Given the description of an element on the screen output the (x, y) to click on. 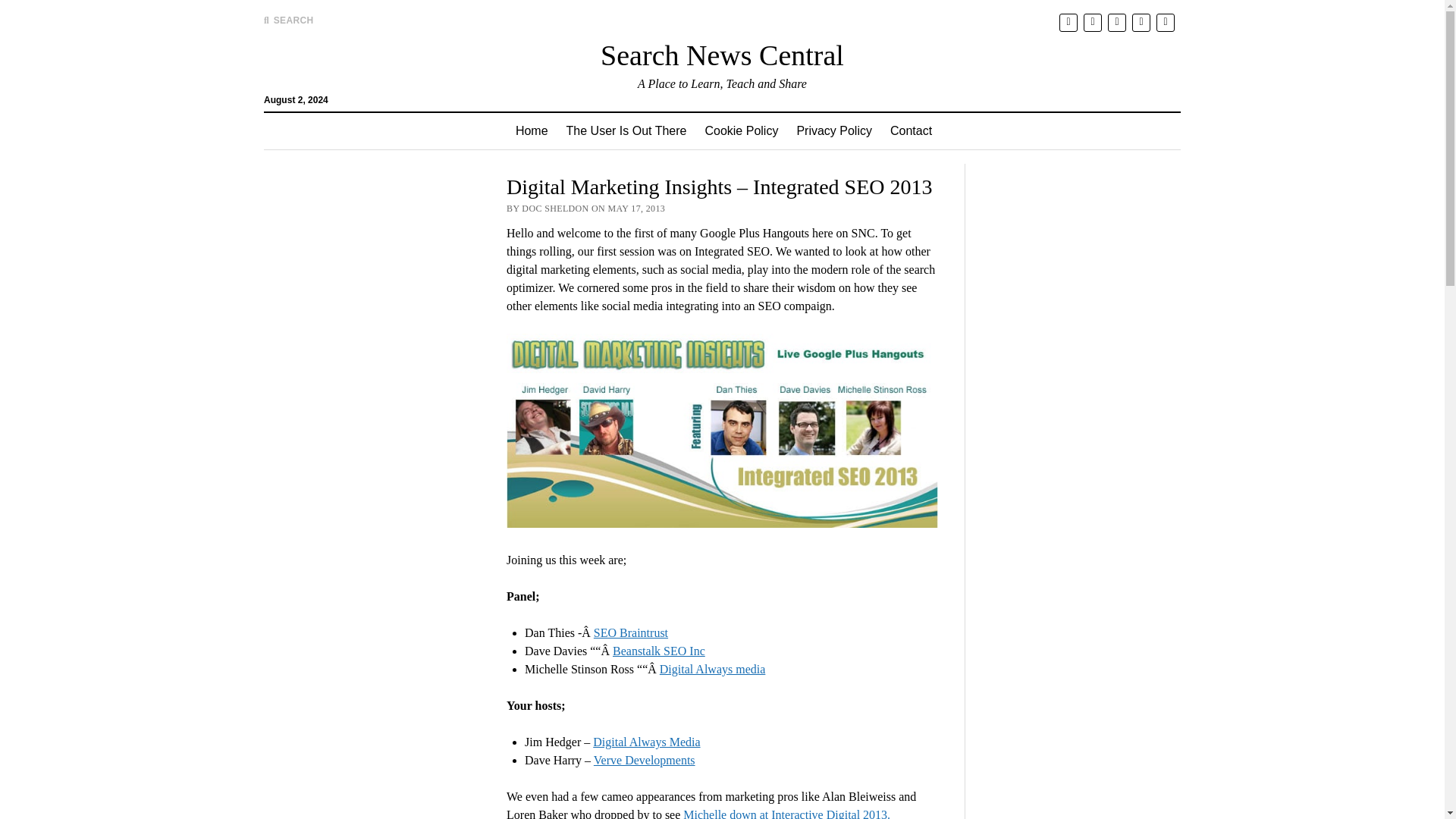
Beanstalk SEO Inc (658, 650)
Home (531, 131)
Digital Always Media (646, 741)
SEO Braintrust (631, 632)
SEARCH (288, 20)
Cookie Policy (741, 131)
Privacy Policy (833, 131)
Search (945, 129)
Verve Developments (644, 759)
Contact (910, 131)
Search News Central (721, 55)
Digital Always media (712, 668)
Michelle down at Interactive Digital 2013. (784, 813)
The User Is Out There (626, 131)
